Given the description of an element on the screen output the (x, y) to click on. 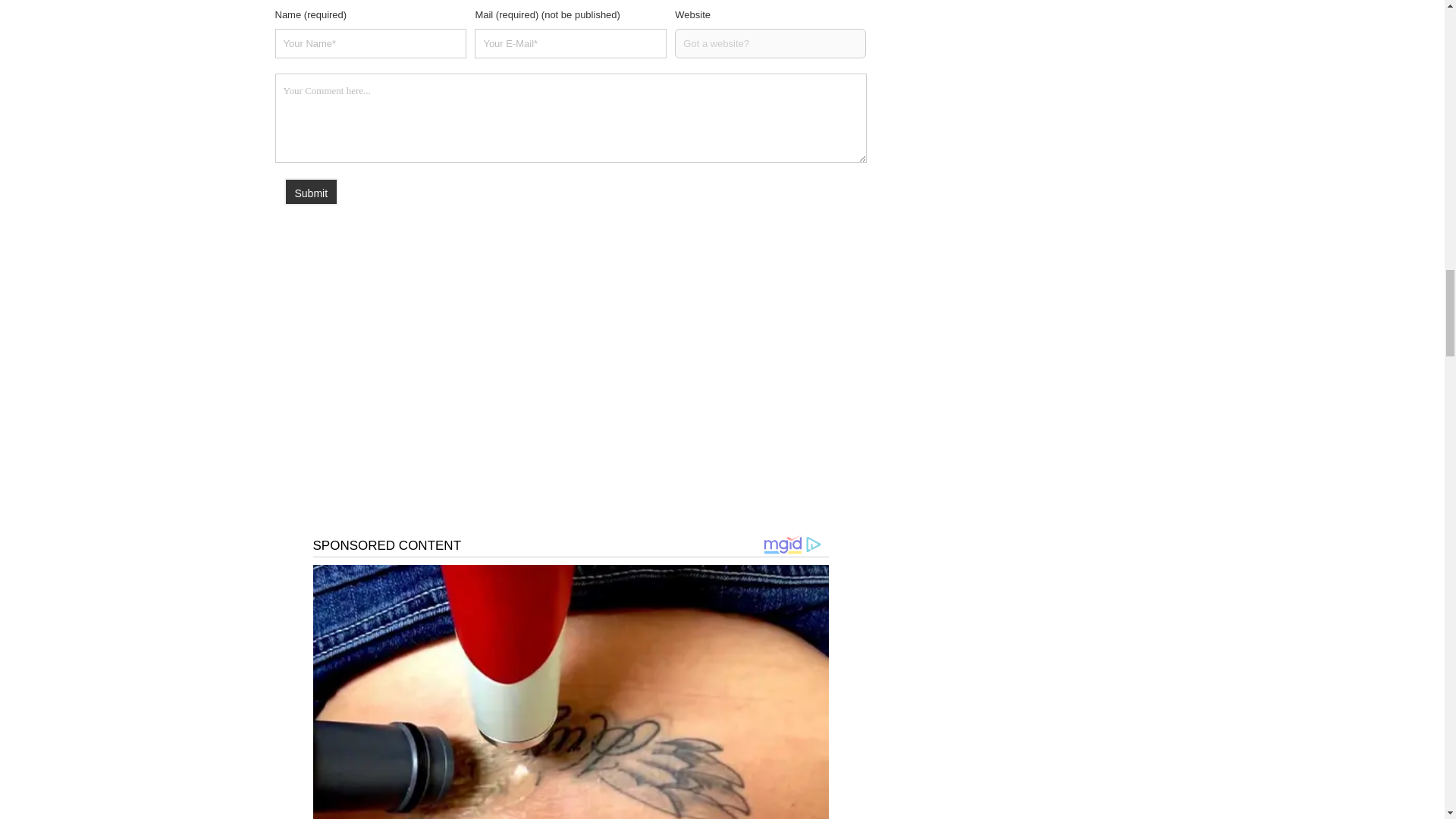
Submit (310, 191)
